Given the description of an element on the screen output the (x, y) to click on. 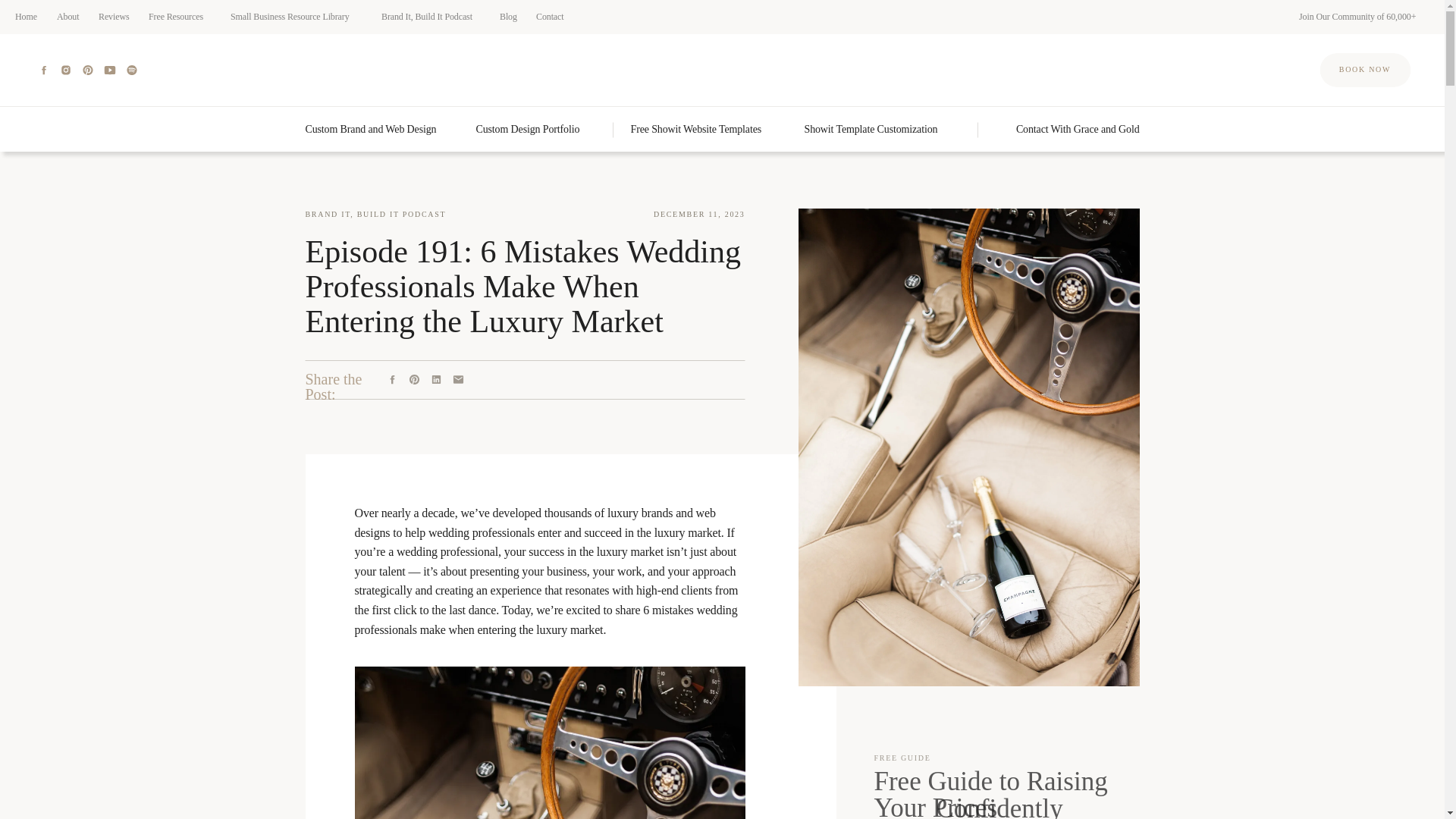
Contact With Grace and Gold (1065, 128)
Blog (510, 16)
BOOK NOW (1364, 68)
Free Resources (182, 16)
Contact (554, 16)
Small Business Resource Library (299, 16)
Reviews (117, 16)
Brand It, Build It Podcast (433, 16)
Home (28, 16)
Custom Design Portfolio (538, 128)
Free Showit Website Templates (710, 128)
About (70, 16)
Showit Template Customization (881, 128)
Custom Brand and Web Design (382, 128)
